Given the description of an element on the screen output the (x, y) to click on. 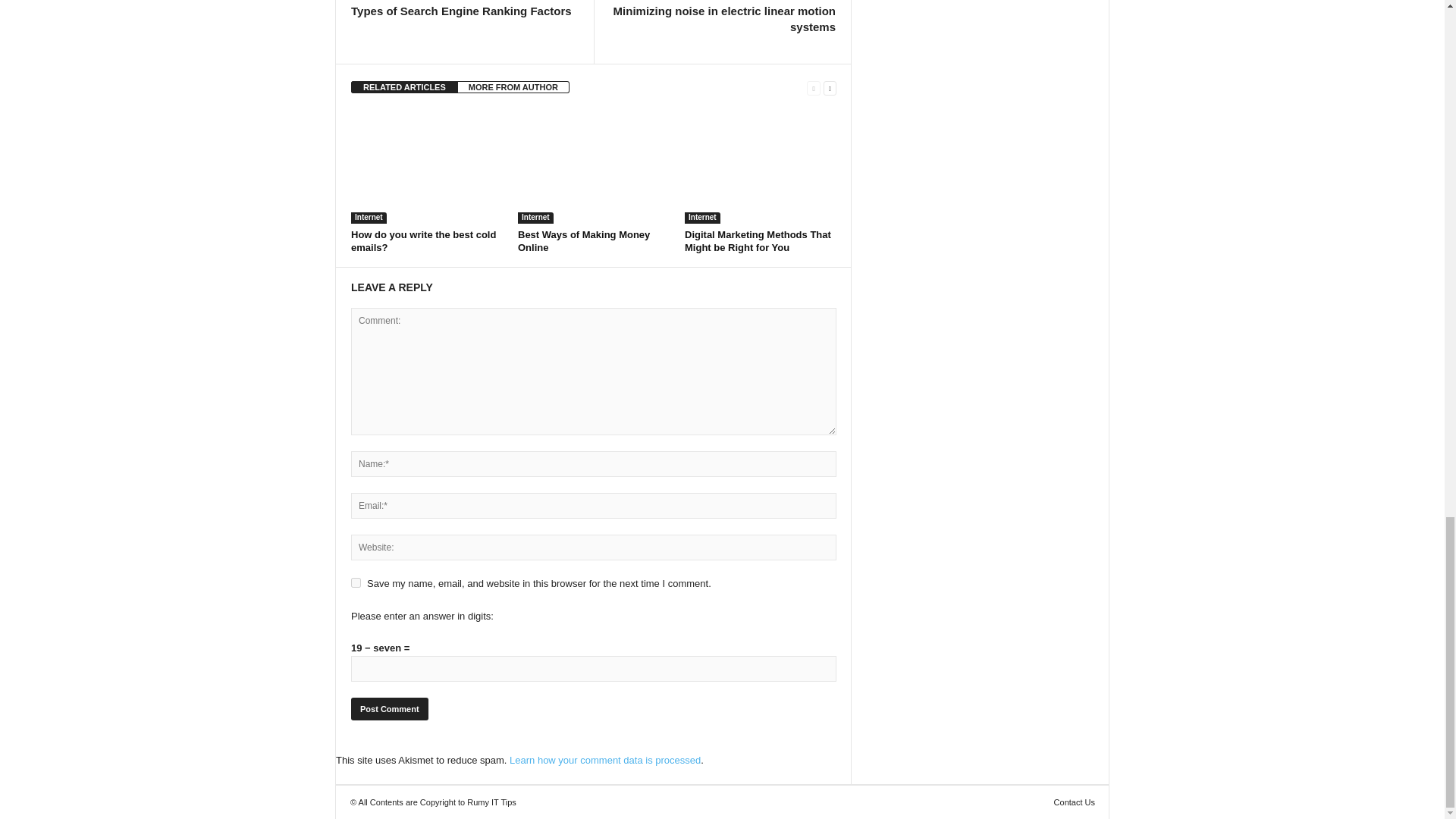
Types of Search Engine Ranking Factors (461, 10)
Minimizing noise in electric linear motion systems (721, 19)
RELATED ARTICLES (404, 87)
Post Comment (389, 708)
yes (355, 583)
